Given the description of an element on the screen output the (x, y) to click on. 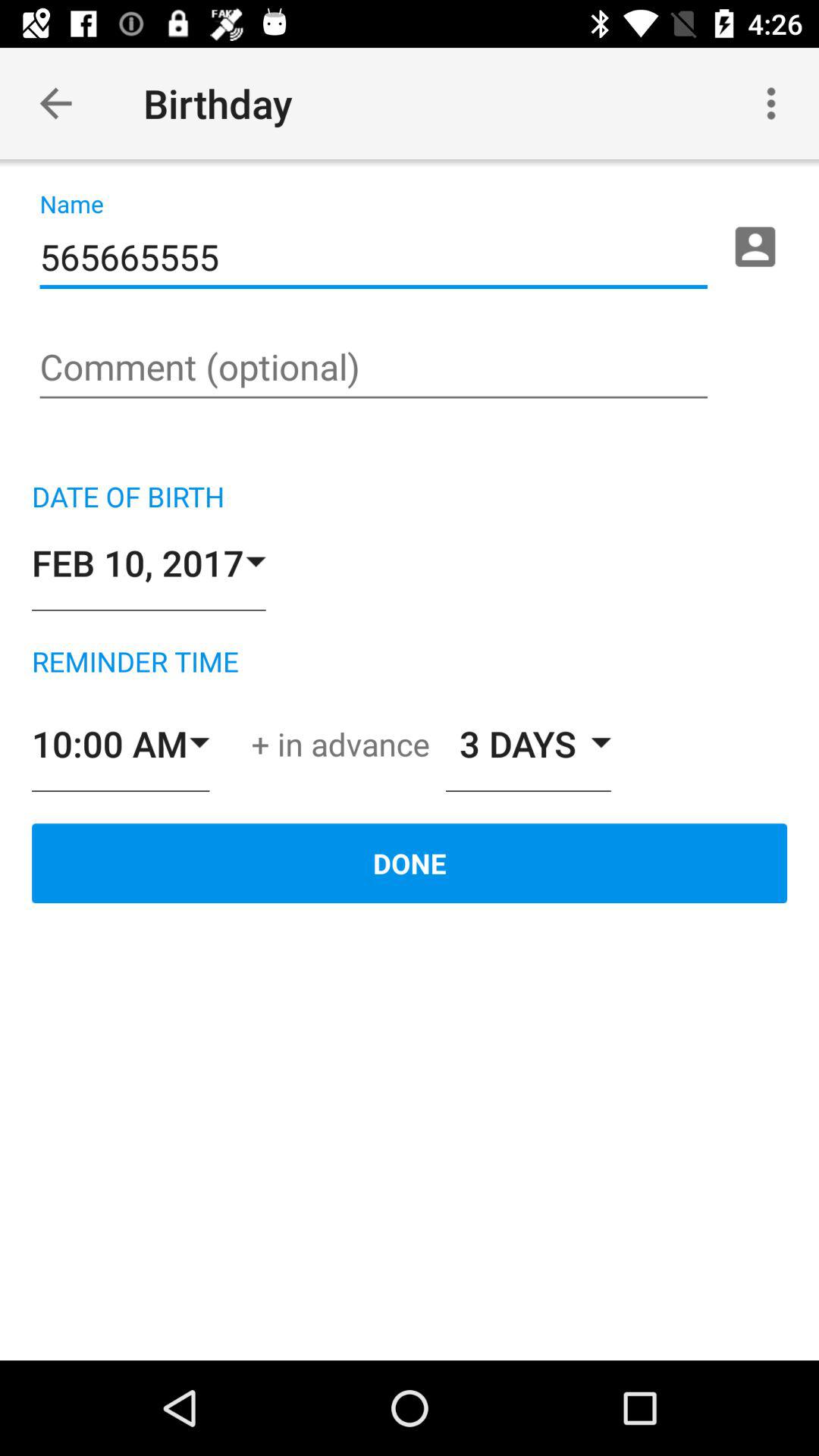
edit personal details (755, 246)
